Given the description of an element on the screen output the (x, y) to click on. 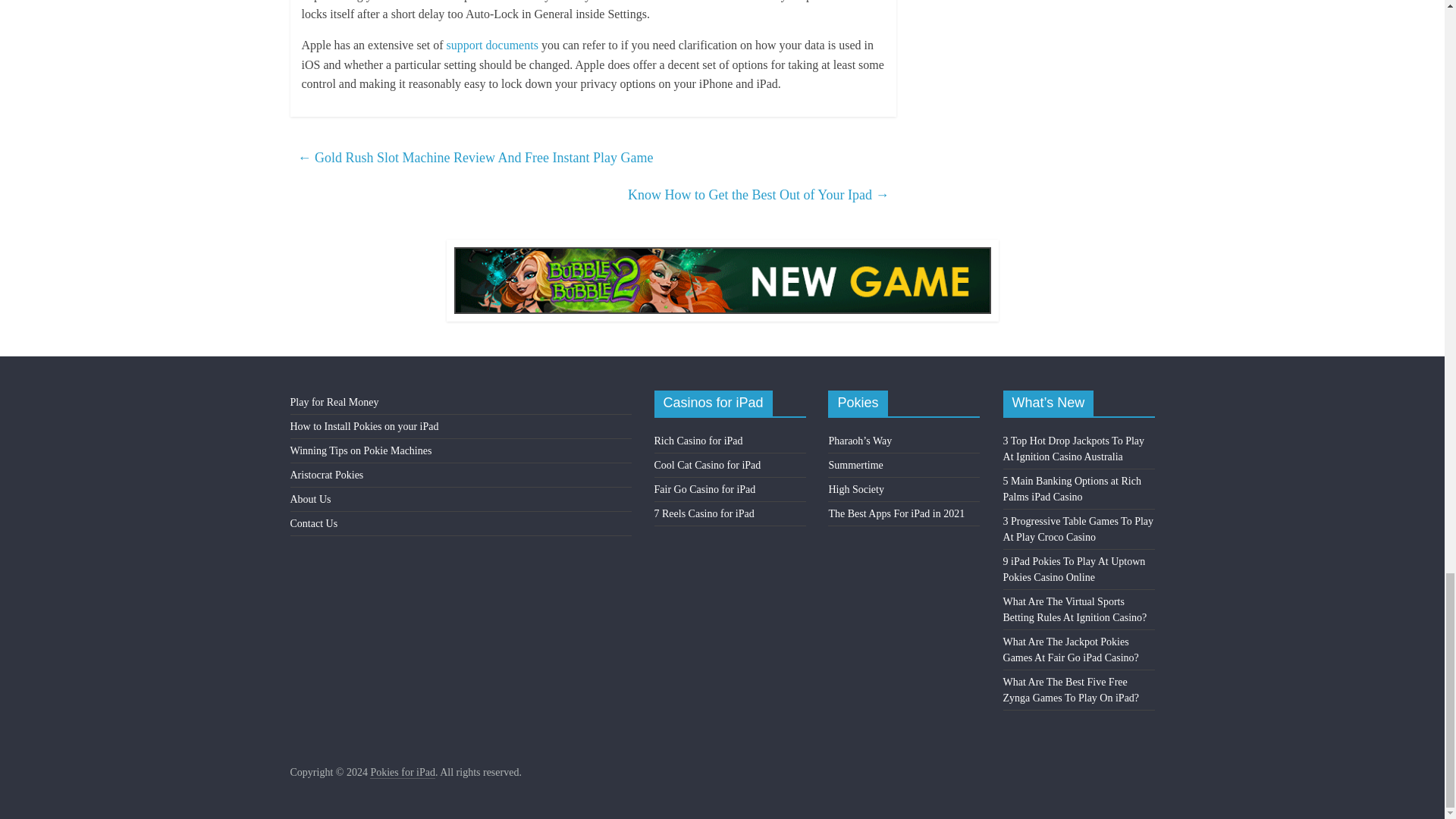
Summertime (855, 464)
Pokies for iPad (402, 772)
5 Main Banking Options at Rich Palms iPad Casino (1072, 488)
Cool Cat Casino for iPad (707, 464)
How to Install Pokies on your iPad (363, 426)
9 iPad Pokies To Play At Uptown Pokies Casino Online (1074, 569)
Aristocrat Pokies (325, 474)
Winning Tips on Pokie Machines (359, 450)
3 Progressive Table Games To Play At Play Croco Casino (1078, 528)
7 Reels Casino for iPad (703, 513)
About Us (309, 499)
High Society (855, 489)
Contact Us (313, 523)
Play for Real Money (333, 401)
3 Top Hot Drop Jackpots To Play At Ignition Casino Australia (1073, 448)
